Given the description of an element on the screen output the (x, y) to click on. 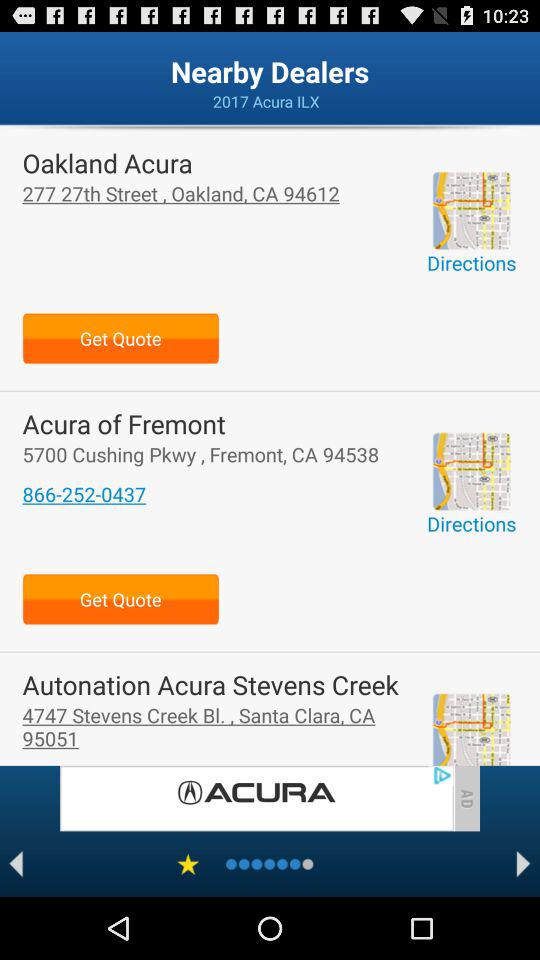
view map (471, 210)
